Given the description of an element on the screen output the (x, y) to click on. 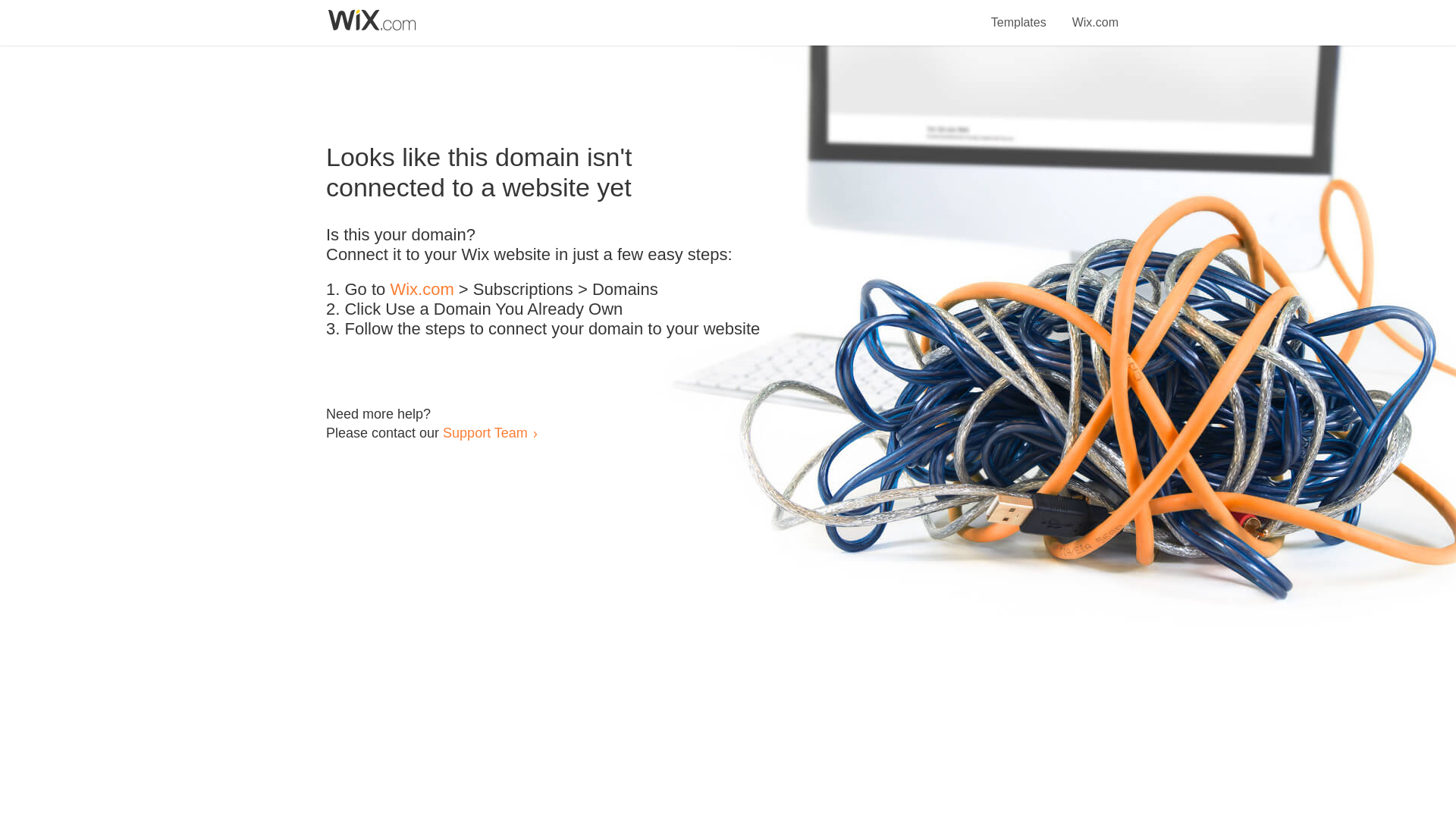
Wix.com (1095, 14)
Templates (1018, 14)
Wix.com (421, 289)
Support Team (484, 432)
